Given the description of an element on the screen output the (x, y) to click on. 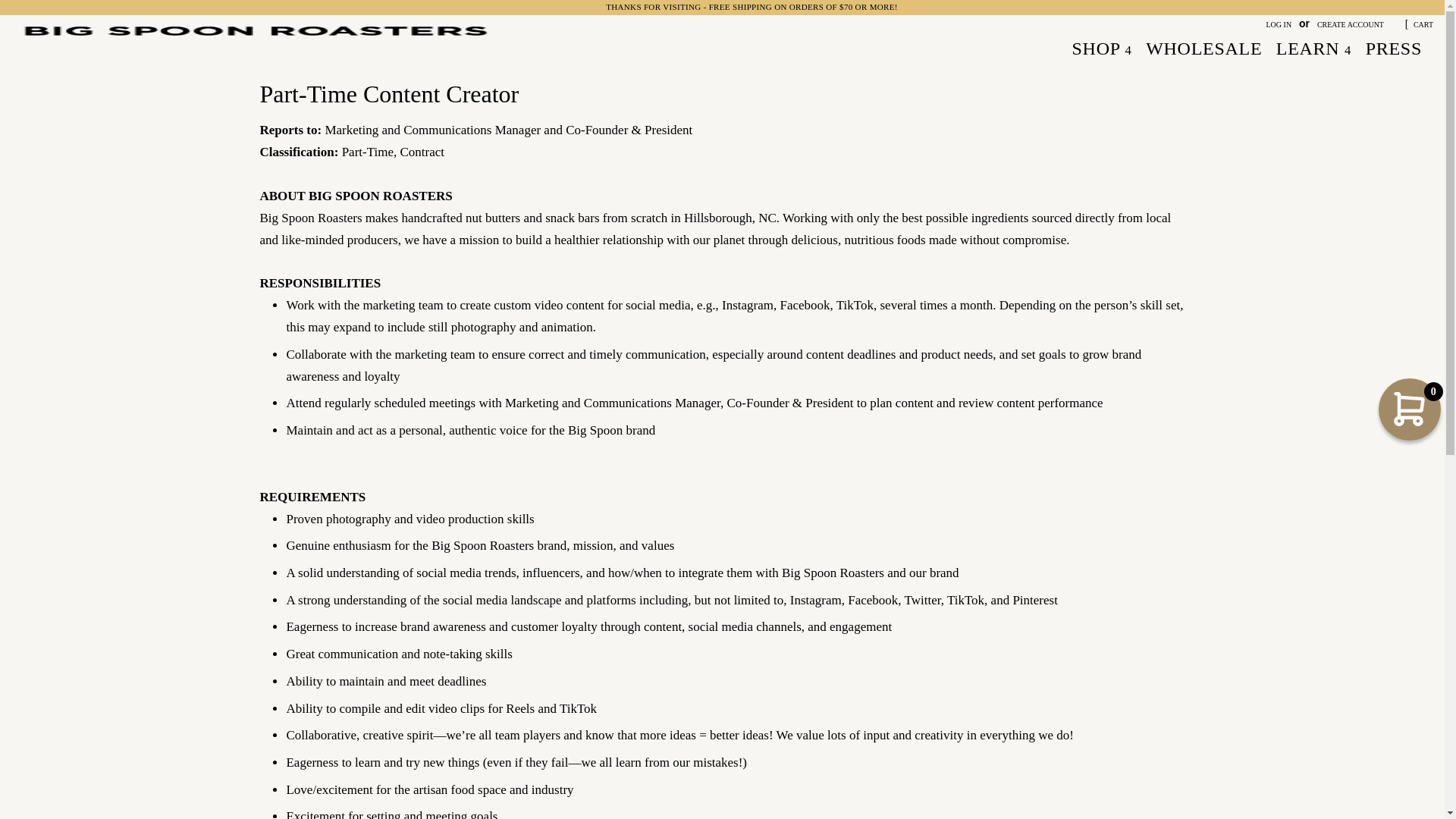
SHOP (1104, 48)
CART (1418, 23)
LOG IN (1279, 24)
CREATE ACCOUNT (1350, 24)
